Given the description of an element on the screen output the (x, y) to click on. 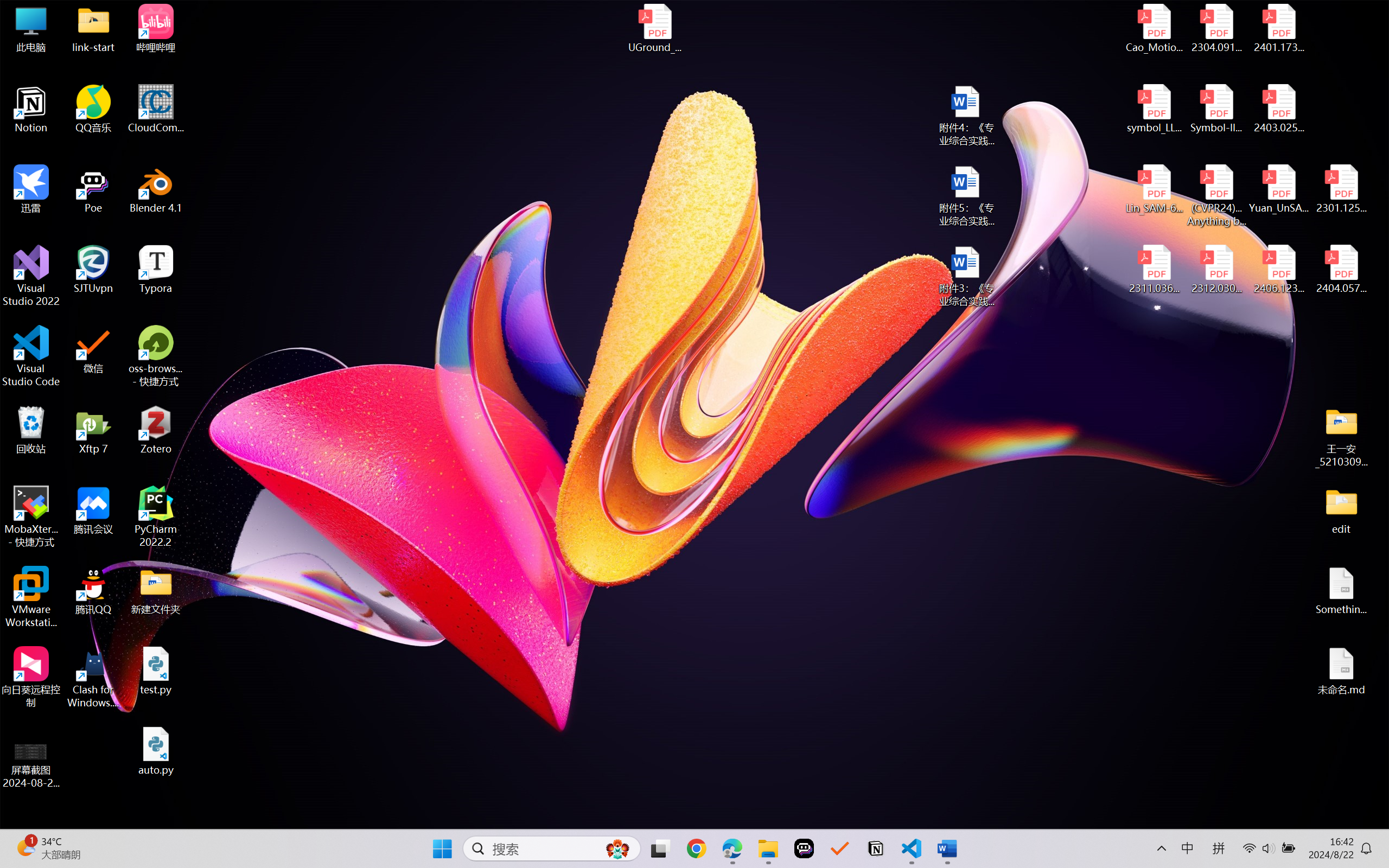
auto.py (156, 751)
2304.09121v3.pdf (1216, 28)
symbol_LLM.pdf (1154, 109)
2401.17399v1.pdf (1278, 28)
edit (1340, 510)
